Given the description of an element on the screen output the (x, y) to click on. 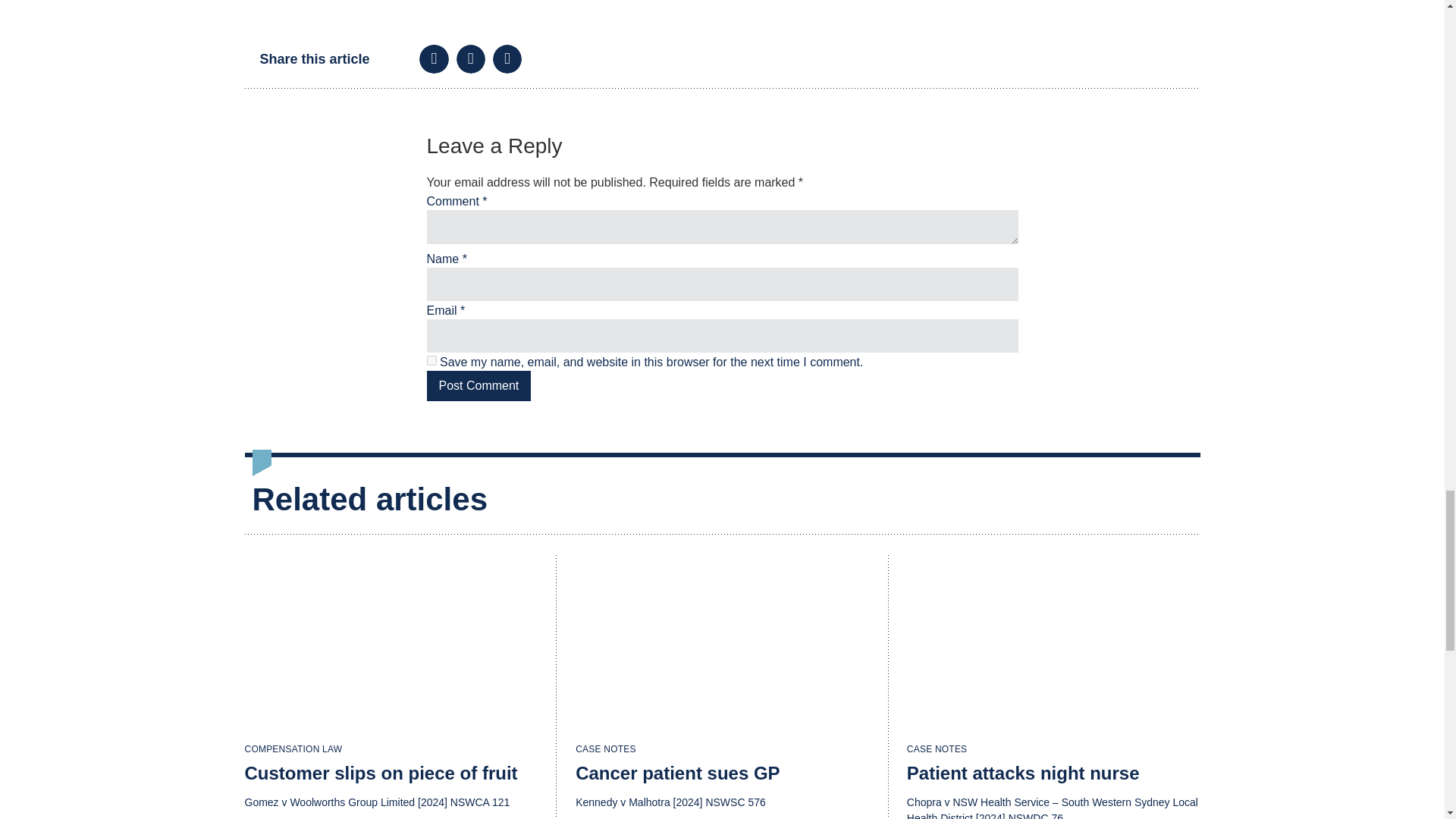
Post Comment (478, 386)
yes (430, 360)
